Given the description of an element on the screen output the (x, y) to click on. 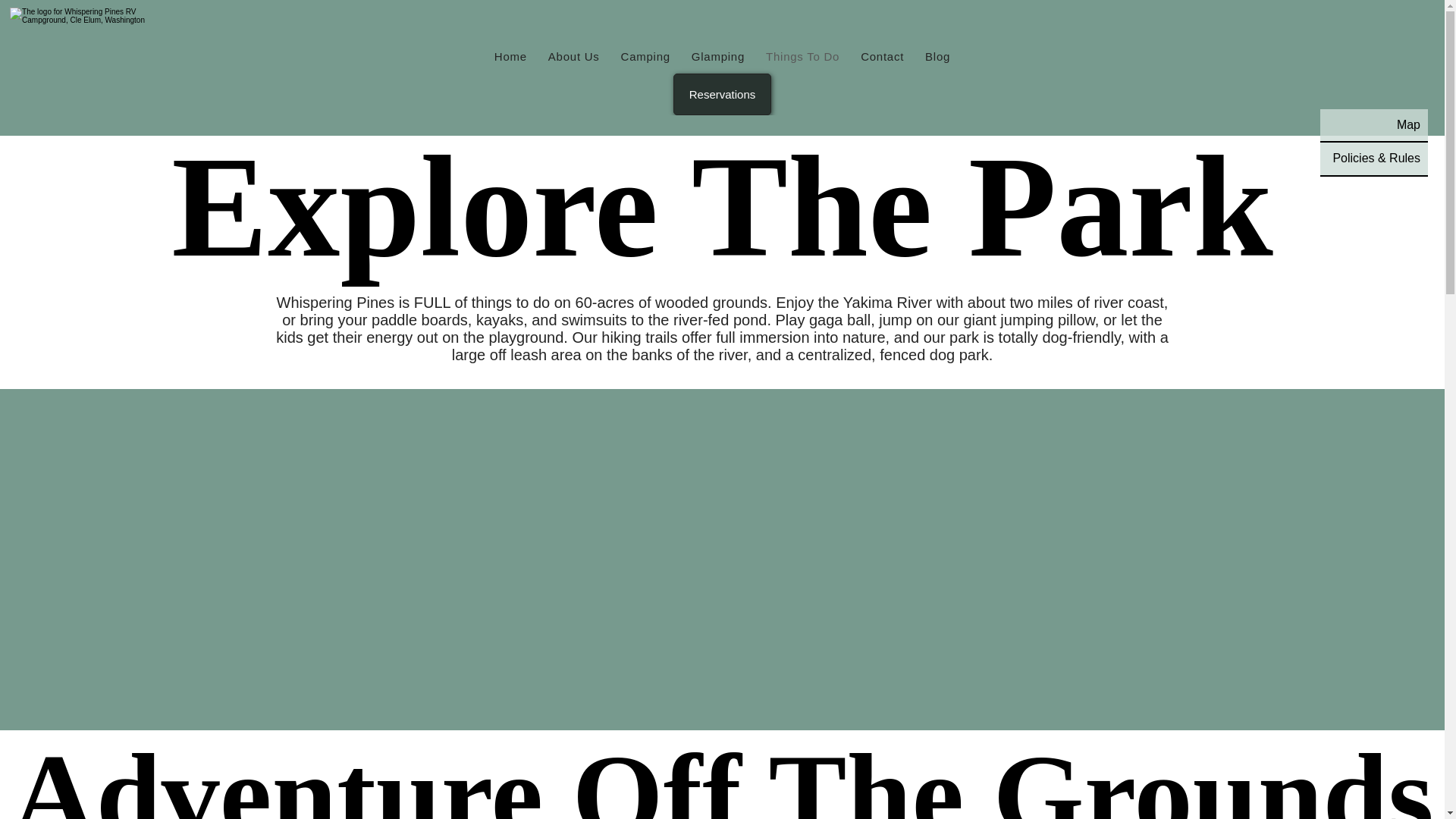
Camping (645, 56)
Glamping (721, 774)
Blog (718, 56)
Contact (937, 56)
Things To Do (882, 56)
Map (802, 56)
About Us (1374, 124)
Home (573, 56)
Reservations (510, 56)
